Given the description of an element on the screen output the (x, y) to click on. 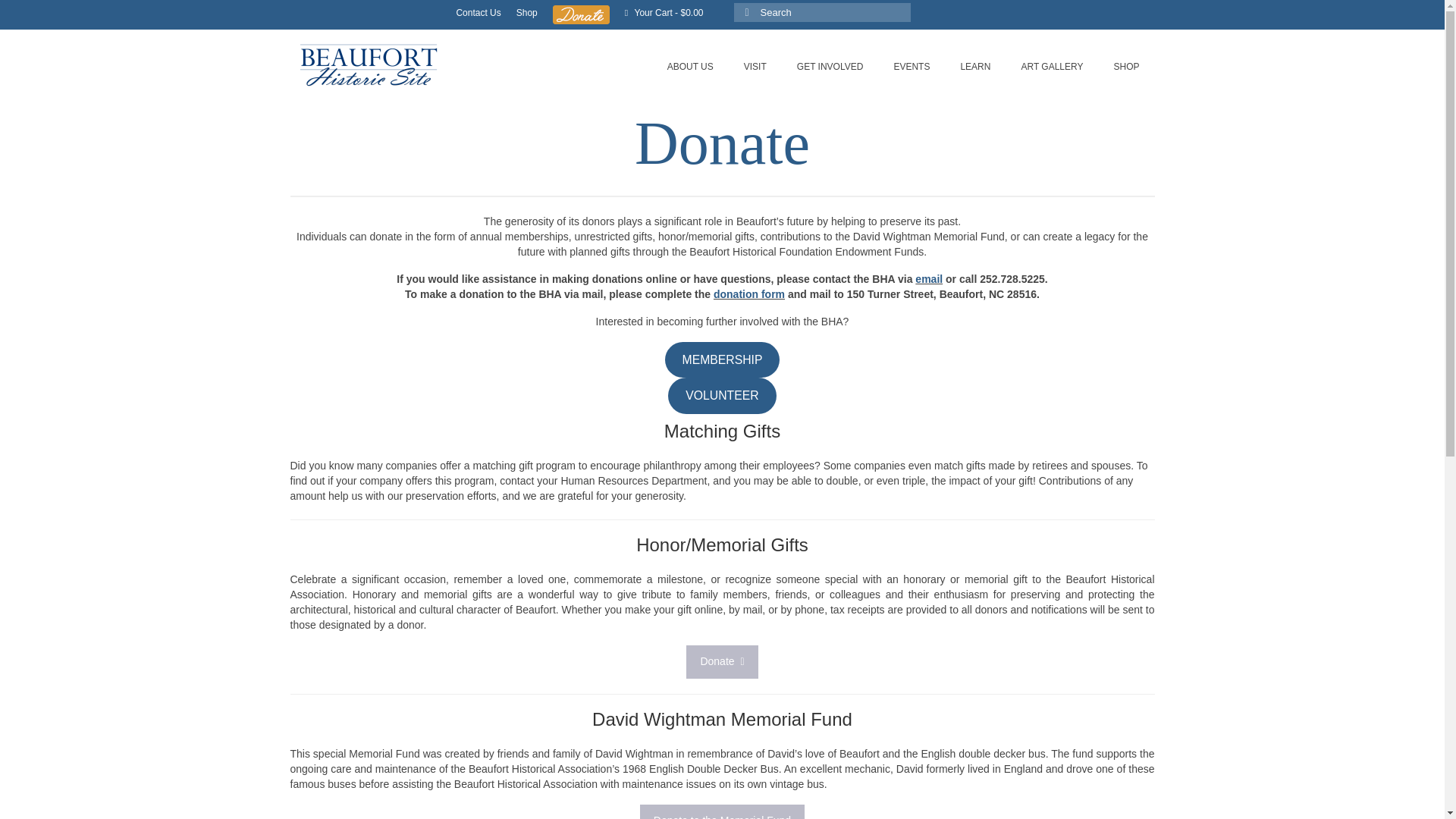
Beaufort Historic Site (428, 63)
Contact Us (478, 12)
ART GALLERY (1051, 66)
View your shopping cart (664, 12)
LEARN (975, 66)
GET INVOLVED (830, 66)
Shop (526, 12)
ABOUT US (690, 66)
EVENTS (910, 66)
VISIT (755, 66)
